Given the description of an element on the screen output the (x, y) to click on. 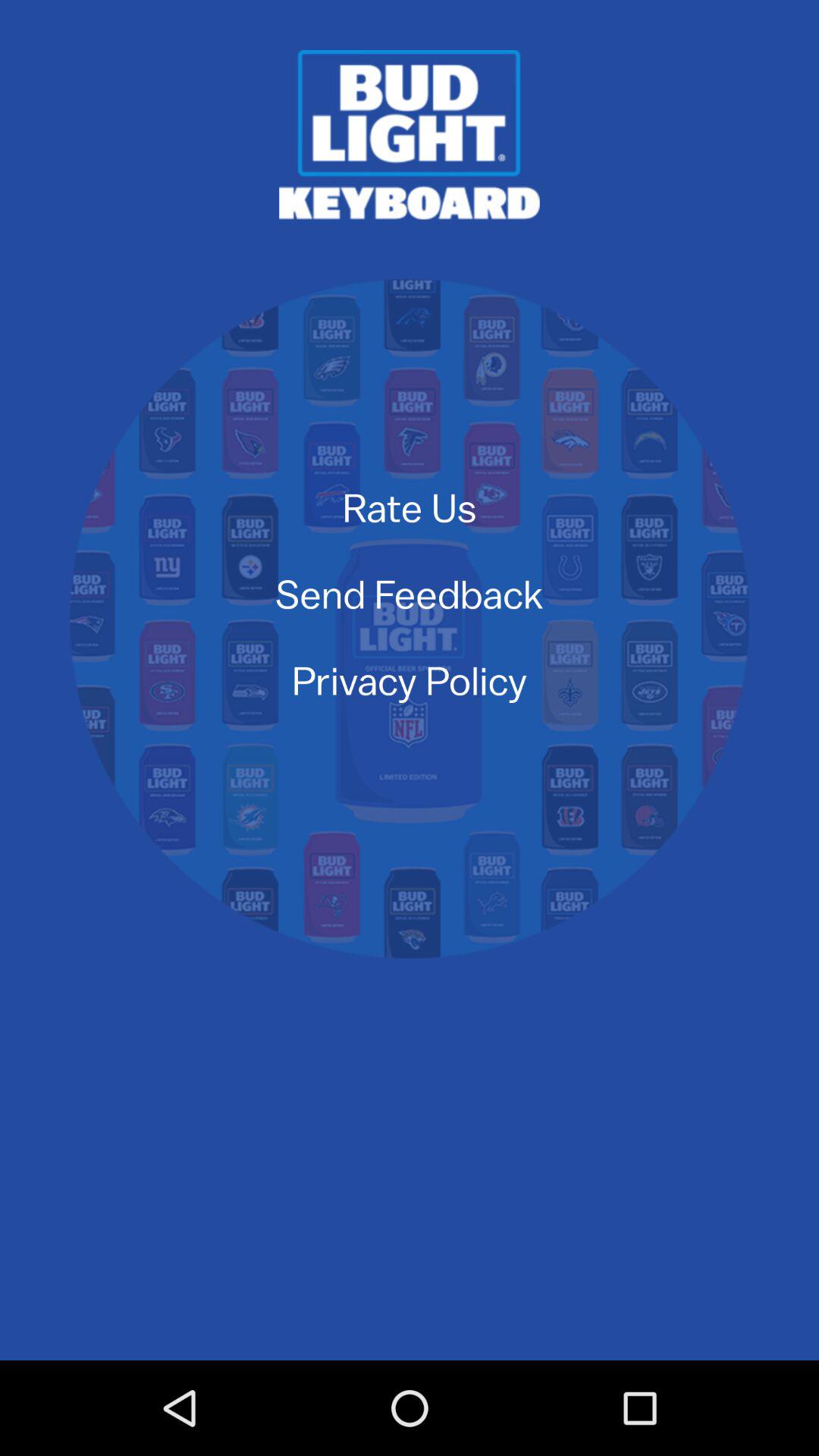
scroll to the rate us item (409, 507)
